Given the description of an element on the screen output the (x, y) to click on. 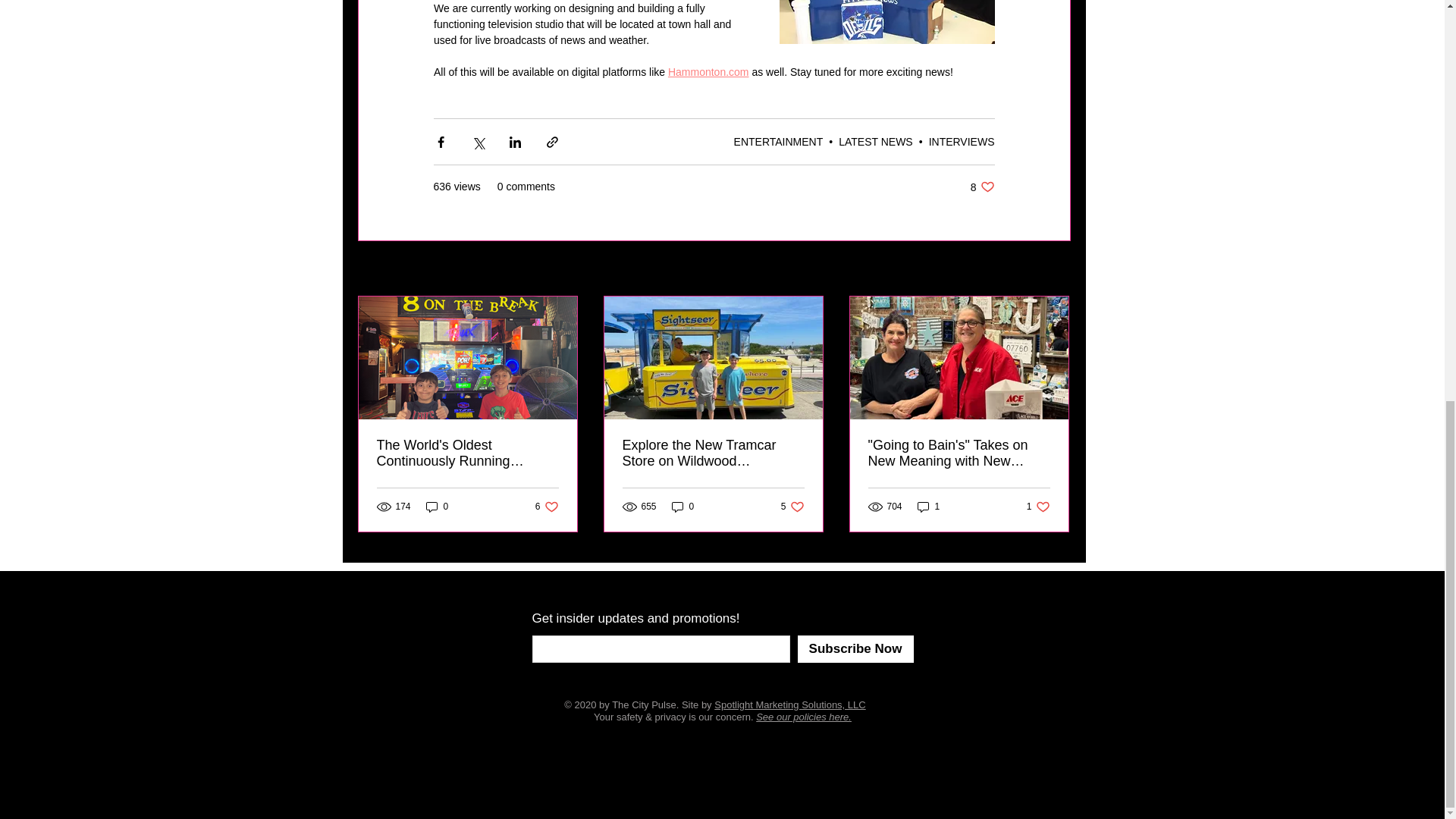
LATEST NEWS (875, 141)
Hammonton.com (707, 71)
ENTERTAINMENT (778, 141)
